Given the description of an element on the screen output the (x, y) to click on. 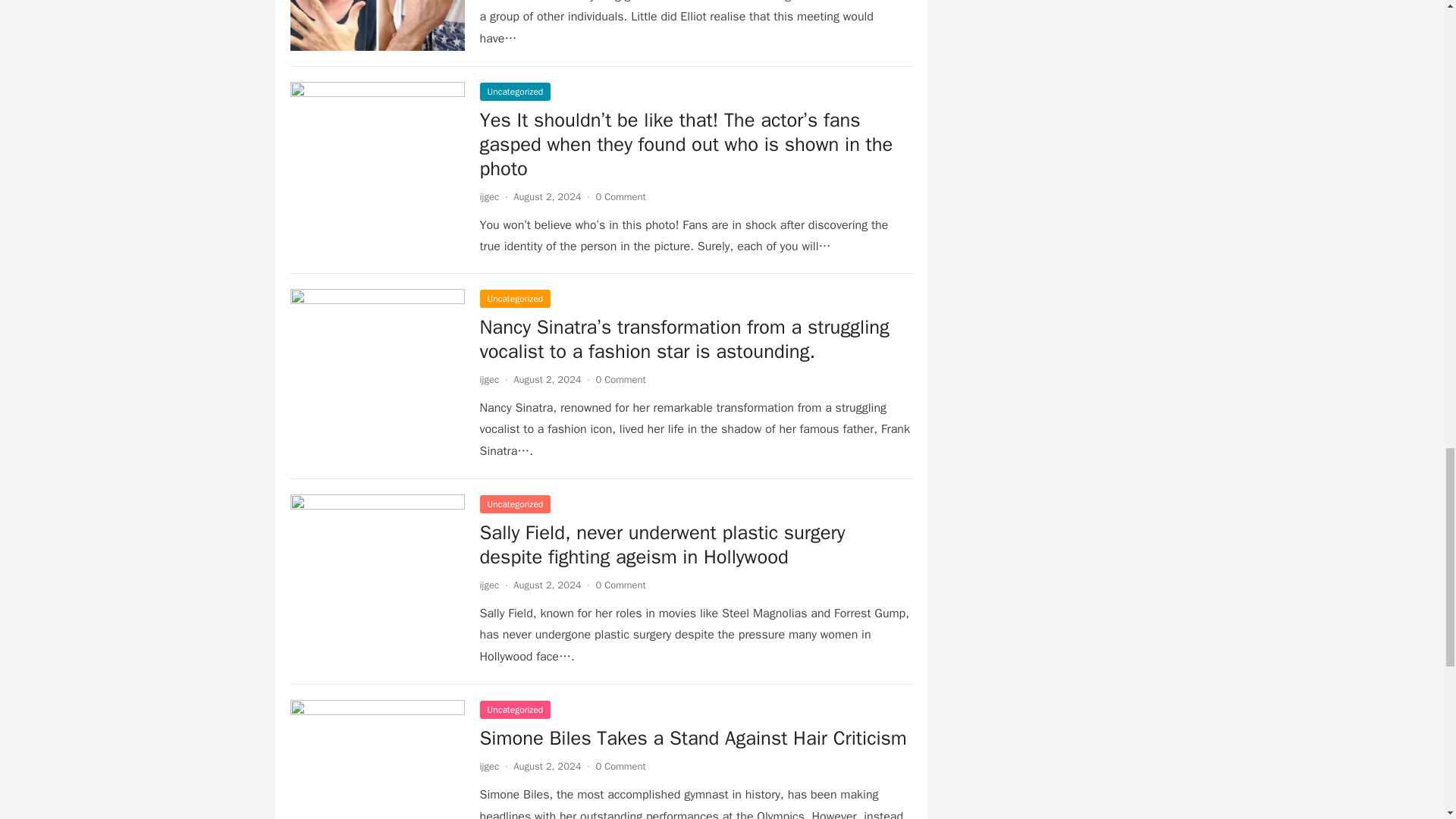
0 Comment (620, 584)
ijgec (489, 379)
Uncategorized (514, 504)
0 Comment (620, 196)
Uncategorized (514, 298)
Posts by ijgec (489, 196)
Uncategorized (514, 91)
Posts by ijgec (489, 584)
ijgec (489, 196)
Posts by ijgec (489, 766)
ijgec (489, 584)
Uncategorized (514, 710)
0 Comment (620, 379)
Posts by ijgec (489, 379)
